Given the description of an element on the screen output the (x, y) to click on. 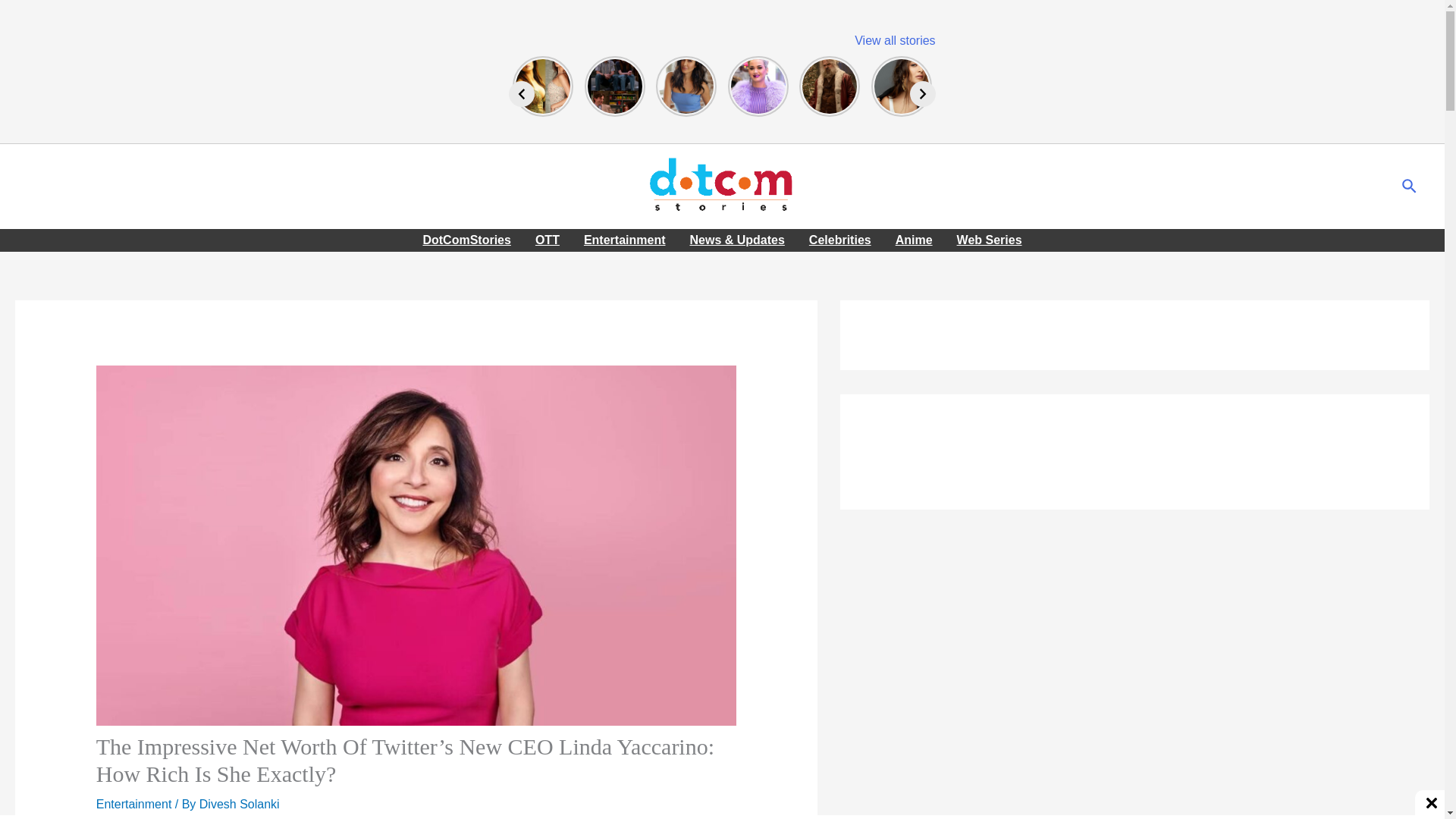
DotComStories (466, 240)
View all posts by Divesh Solanki (239, 803)
Entertainment (133, 803)
Web Series (988, 240)
Divesh Solanki (239, 803)
View all stories (894, 40)
Entertainment (625, 240)
Celebrities (839, 240)
Anime (913, 240)
OTT (547, 240)
